Given the description of an element on the screen output the (x, y) to click on. 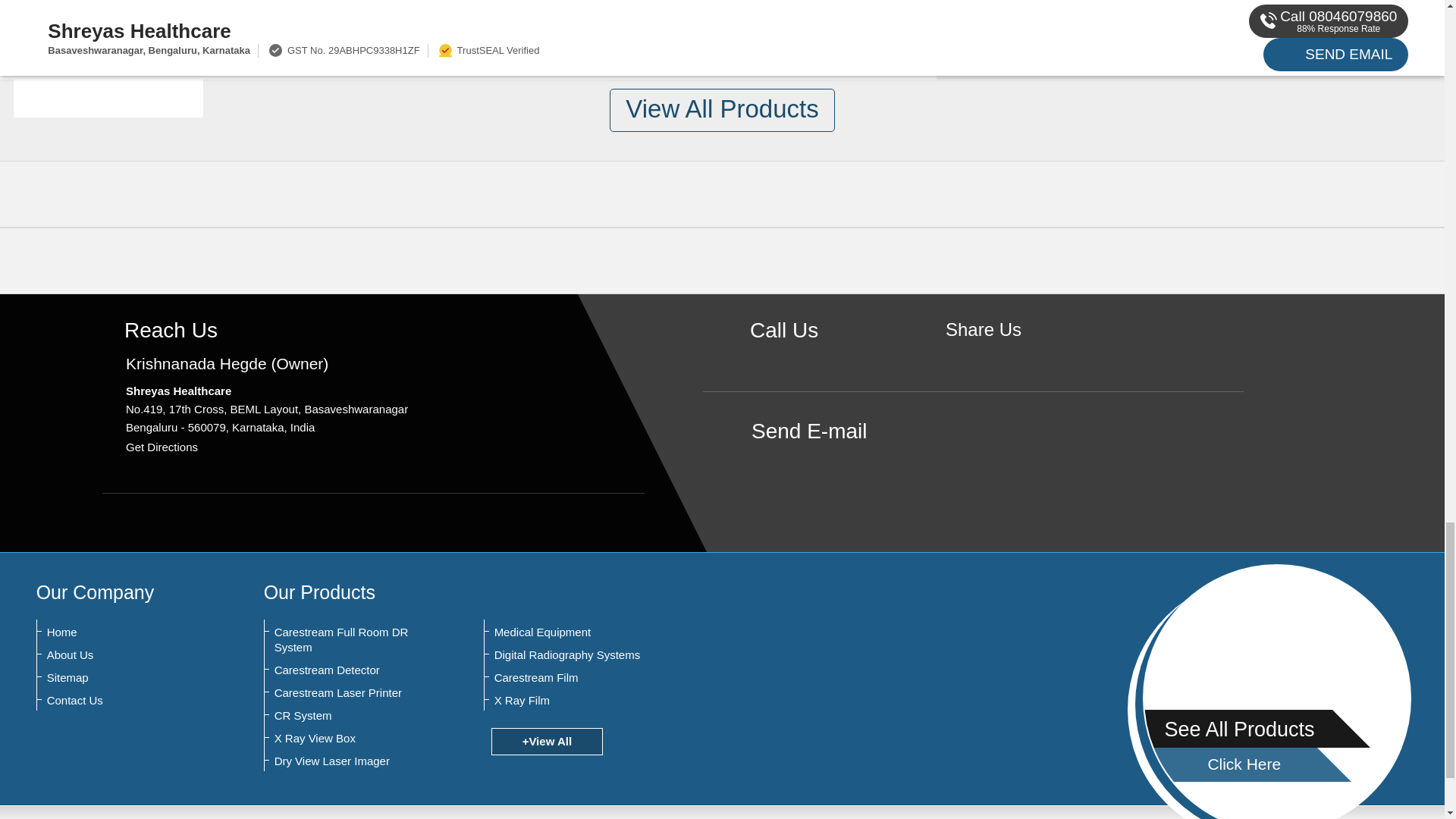
Get Directions (161, 446)
Sitemap (121, 677)
LinkedIn (1029, 355)
Facebook (983, 355)
Contact Us (121, 700)
About Us (121, 654)
Twitter (1006, 355)
View All Products (722, 109)
Home (121, 631)
Our Products (319, 591)
